Given the description of an element on the screen output the (x, y) to click on. 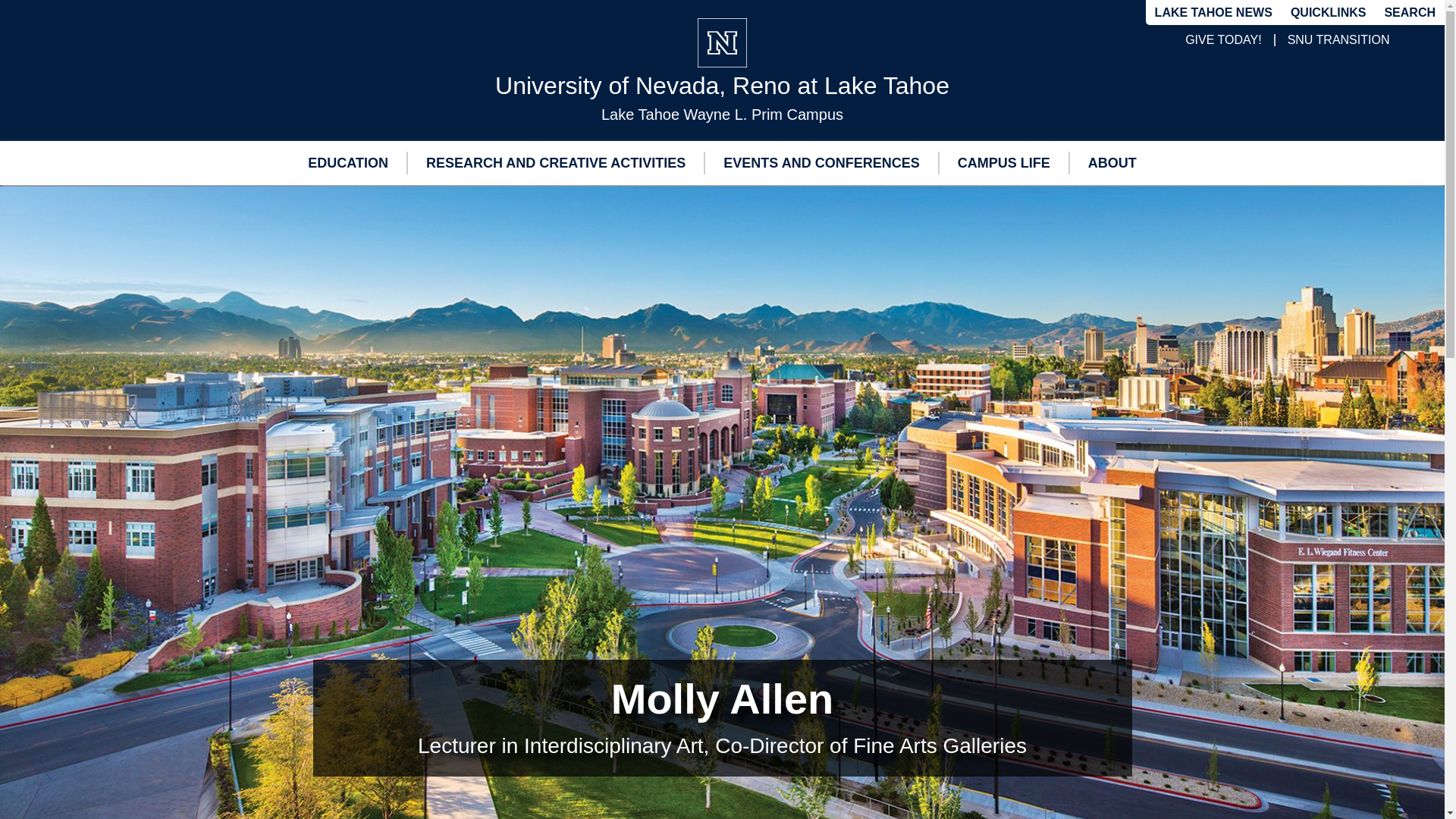
GIVE TODAY! (1222, 39)
EDUCATION (347, 162)
SEARCH (1409, 12)
LAKE TAHOE NEWS (1213, 13)
SNU TRANSITION (1338, 39)
QUICKLINKS (1328, 12)
RESEARCH AND CREATIVE ACTIVITIES (555, 162)
